Given the description of an element on the screen output the (x, y) to click on. 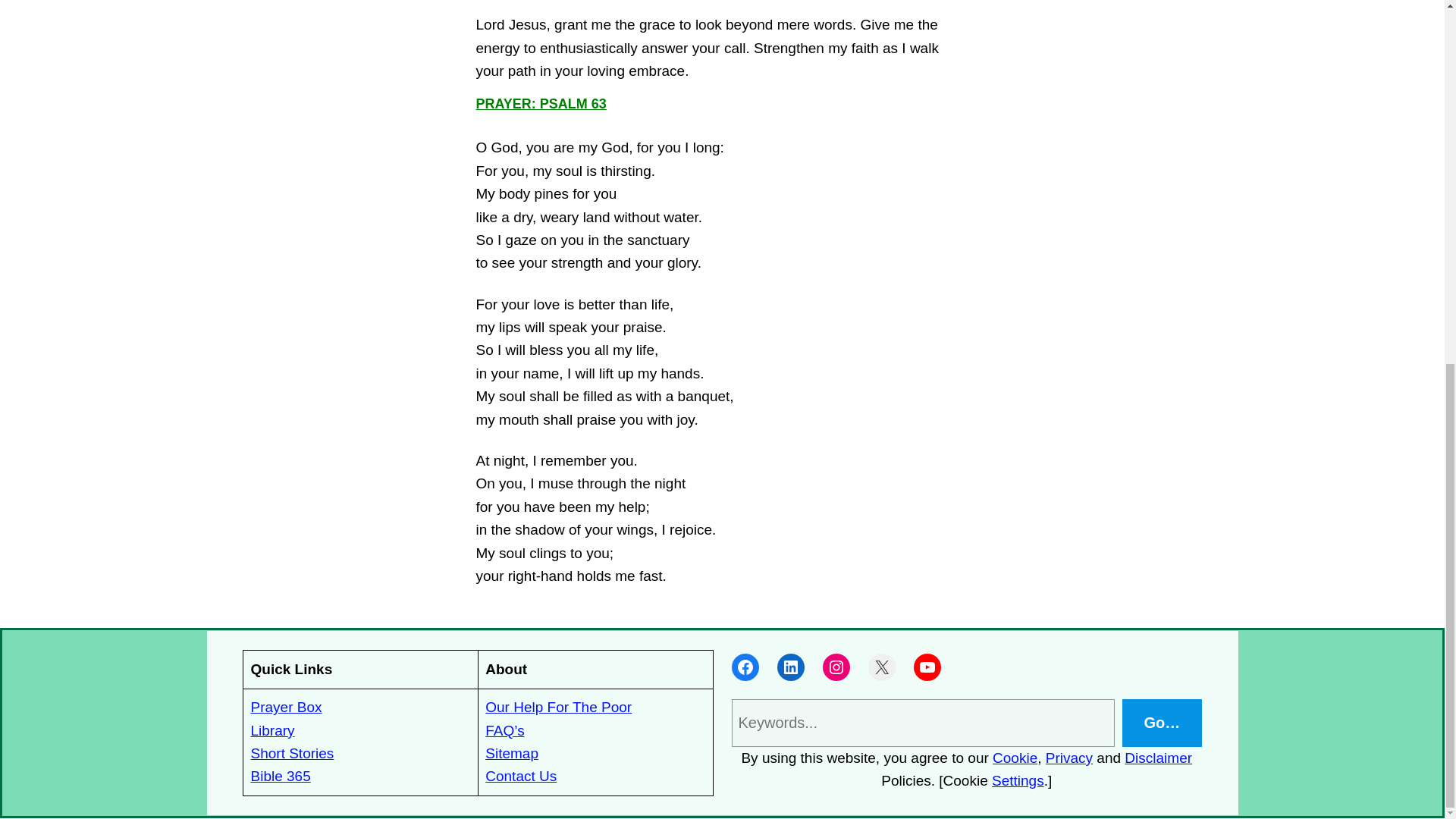
Bible 365 (280, 775)
Settings (1017, 780)
Sitemap (511, 753)
Facebook (744, 666)
Short Stories (291, 753)
Privacy (1069, 757)
Contact Us (520, 775)
YouTube (926, 666)
X (881, 666)
Library (272, 730)
Instagram (835, 666)
Disclaimer (1158, 757)
Our Help For The Poor (557, 706)
Prayer Box (285, 706)
Cookie (1014, 757)
